Given the description of an element on the screen output the (x, y) to click on. 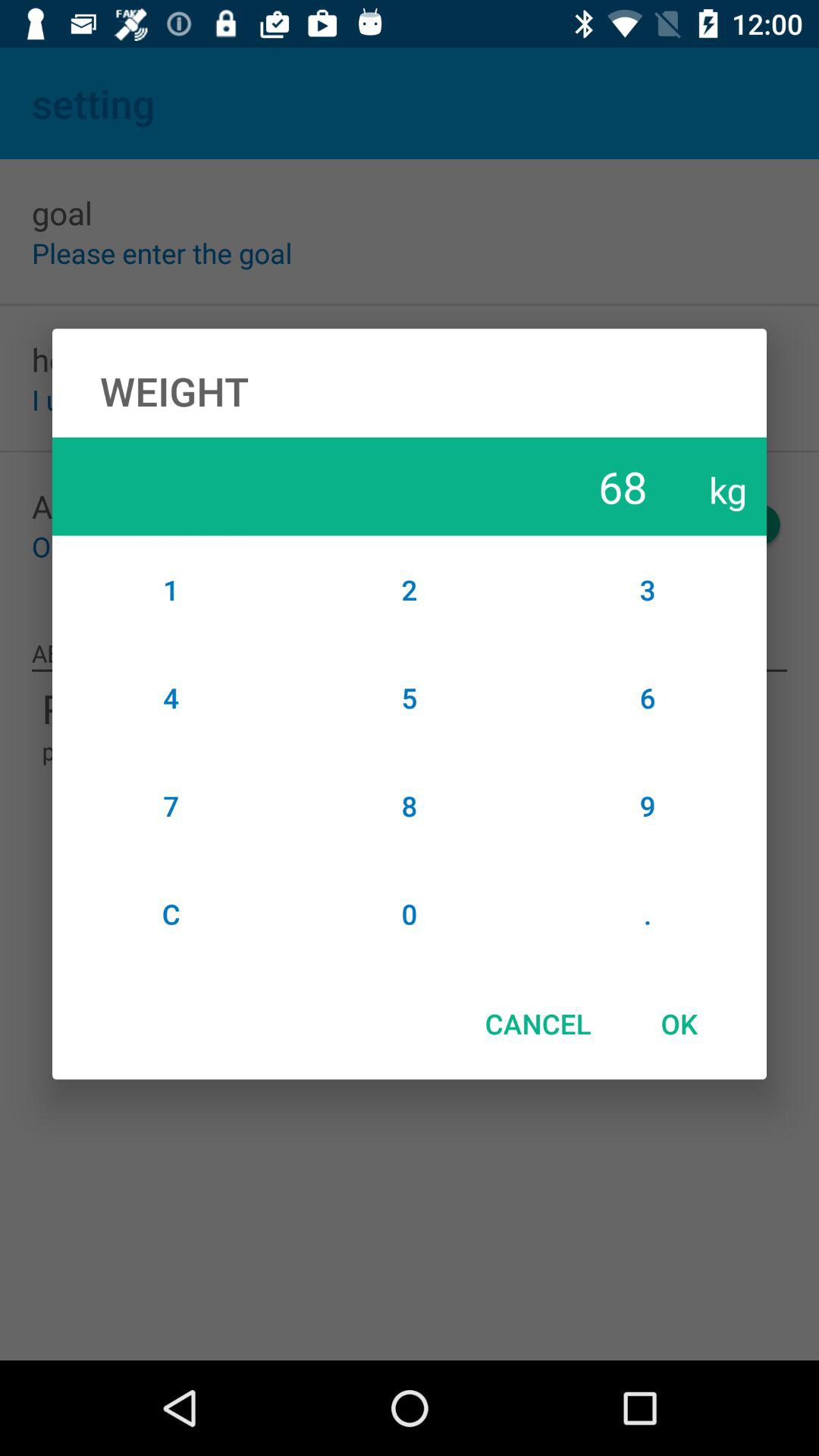
tap item next to 7 icon (409, 913)
